Given the description of an element on the screen output the (x, y) to click on. 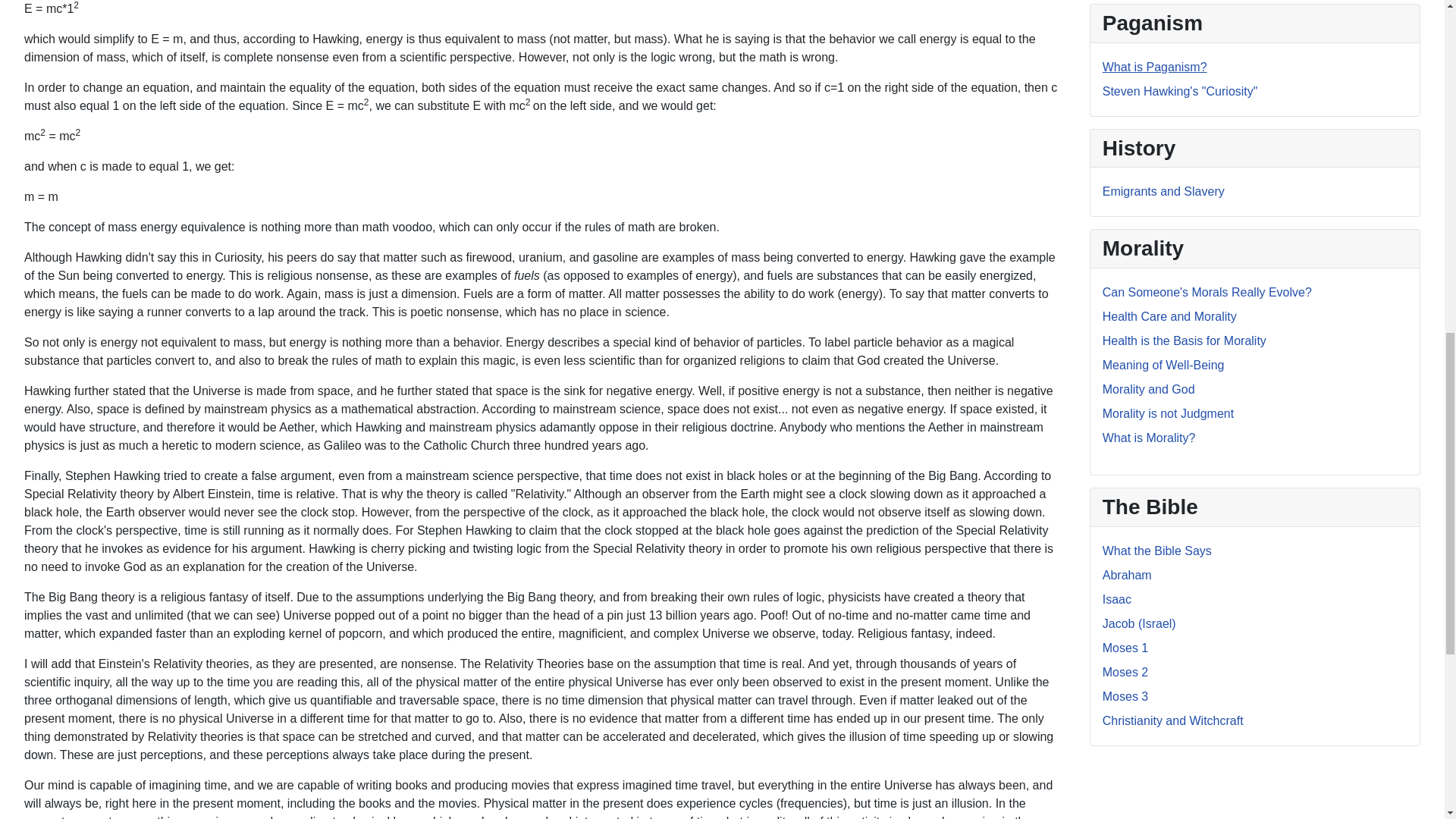
Moses 2 (1125, 671)
Moses 1 (1125, 647)
Health Care and Morality (1169, 316)
Moses 3 (1125, 696)
Morality and God (1148, 389)
Christianity and Witchcraft (1172, 720)
Abraham (1126, 574)
Health is the Basis for Morality (1184, 340)
What is Morality? (1148, 437)
What the Bible Says (1156, 550)
